Given the description of an element on the screen output the (x, y) to click on. 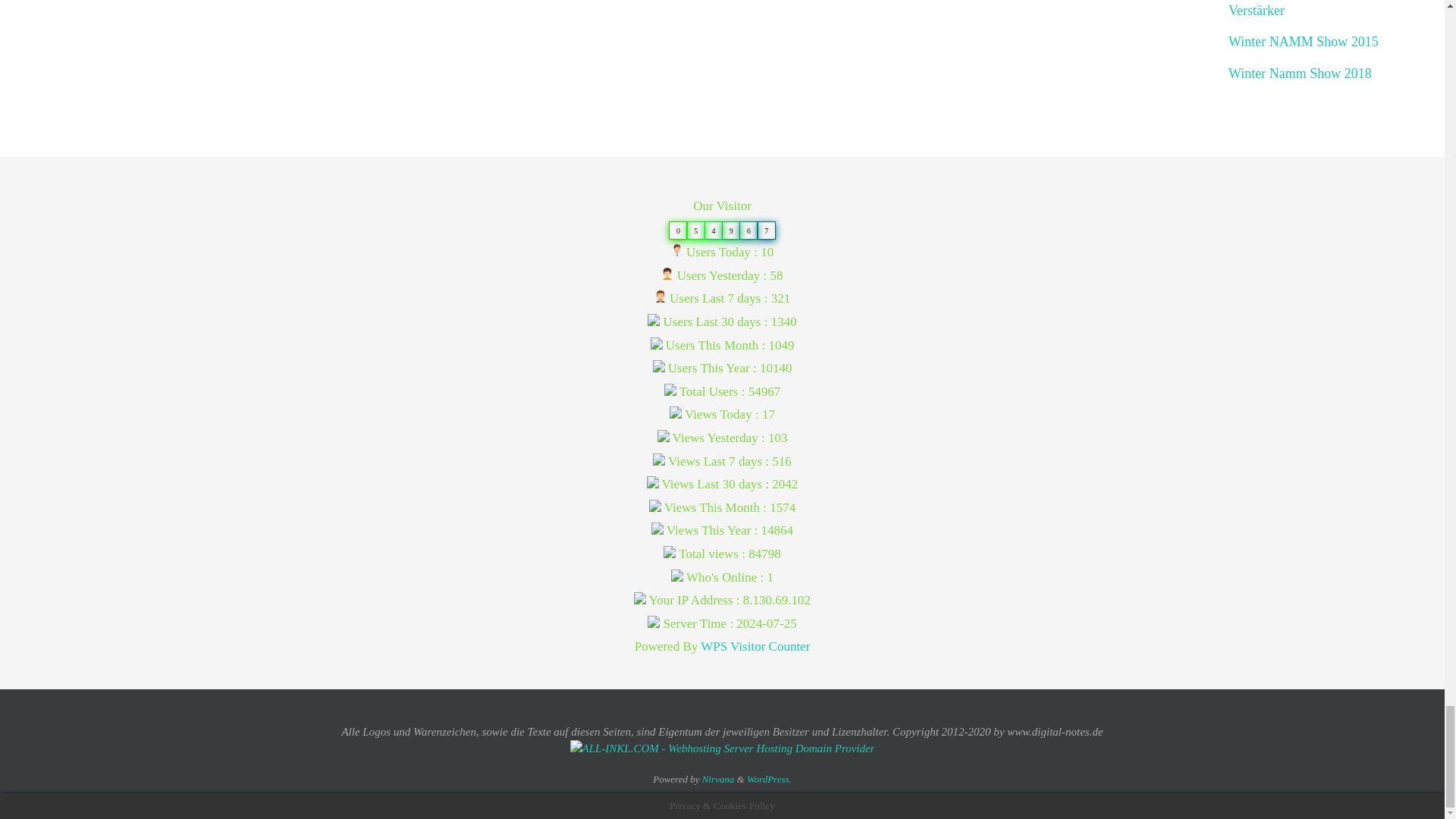
Semantic Personal Publishing Platform (769, 778)
Nirvana Theme by Cryout Creations (718, 778)
